Given the description of an element on the screen output the (x, y) to click on. 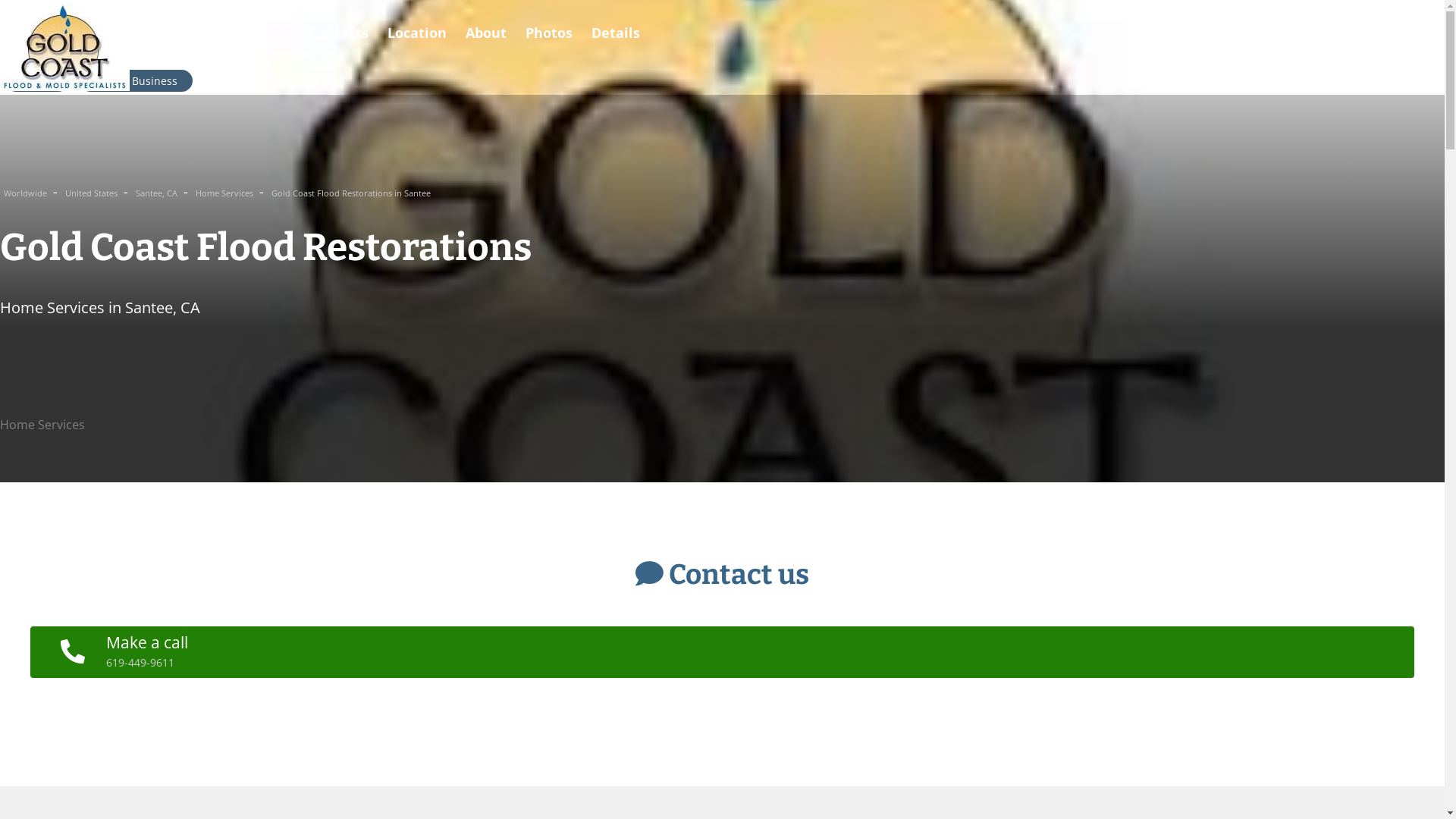
Make a call
619-449-9611 Element type: text (722, 651)
Location Element type: text (416, 32)
Advertisement Element type: hover (455, 715)
2FL Element type: text (21, 29)
Add Business Element type: text (135, 80)
Photos Element type: text (548, 32)
Home Services Element type: text (225, 192)
Details Element type: text (615, 32)
Worldwide Element type: text (26, 192)
Gold Coast Flood Restorations in Santee Element type: text (350, 192)
Log In Element type: text (37, 80)
Advertisement Element type: hover (455, 369)
United States Element type: text (92, 192)
Contacts Element type: text (338, 32)
About Element type: text (485, 32)
Santee, CA Element type: text (157, 192)
